Given the description of an element on the screen output the (x, y) to click on. 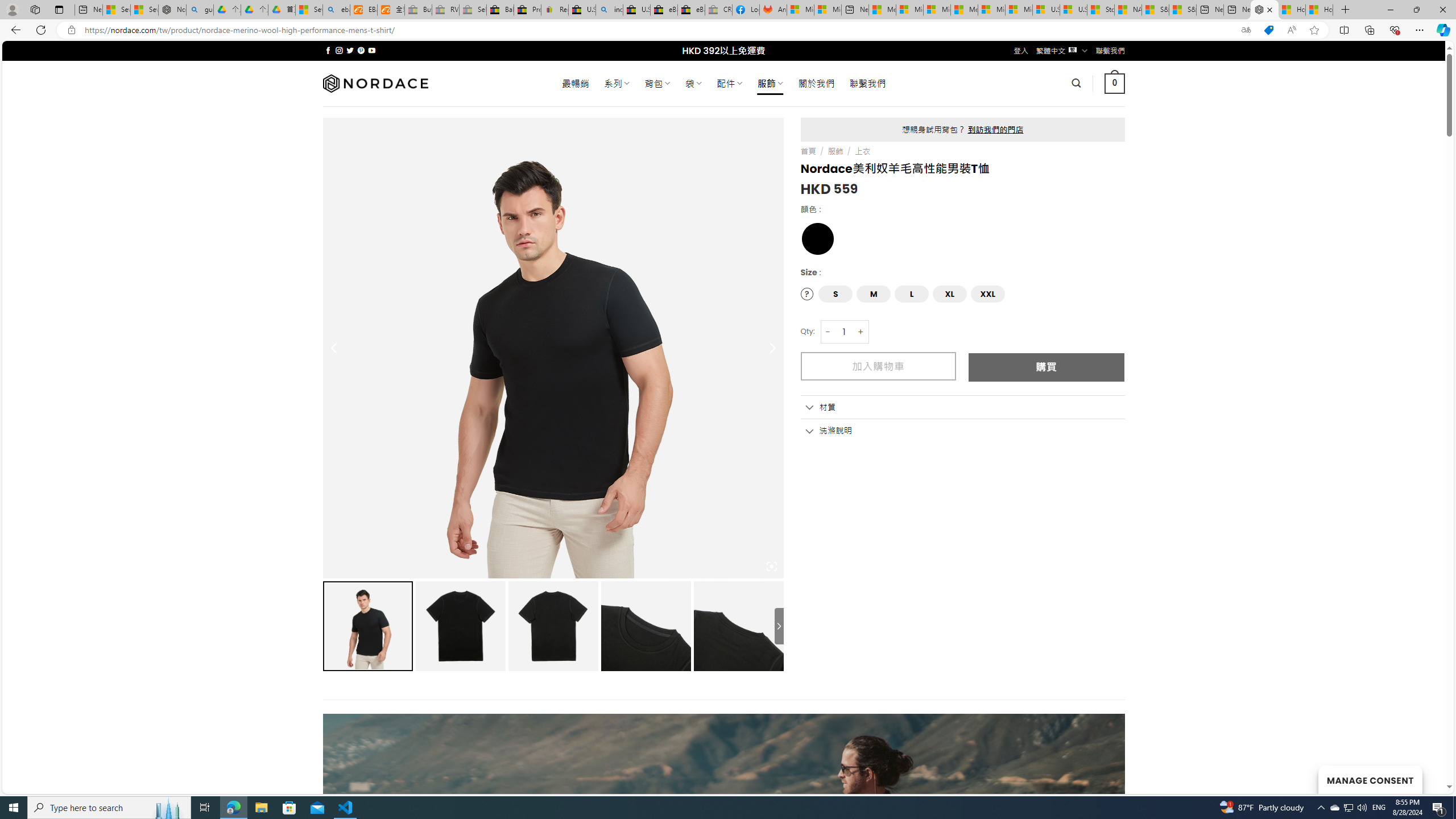
Show translate options (1245, 29)
Press Room - eBay Inc. (527, 9)
  0   (1115, 83)
